Given the description of an element on the screen output the (x, y) to click on. 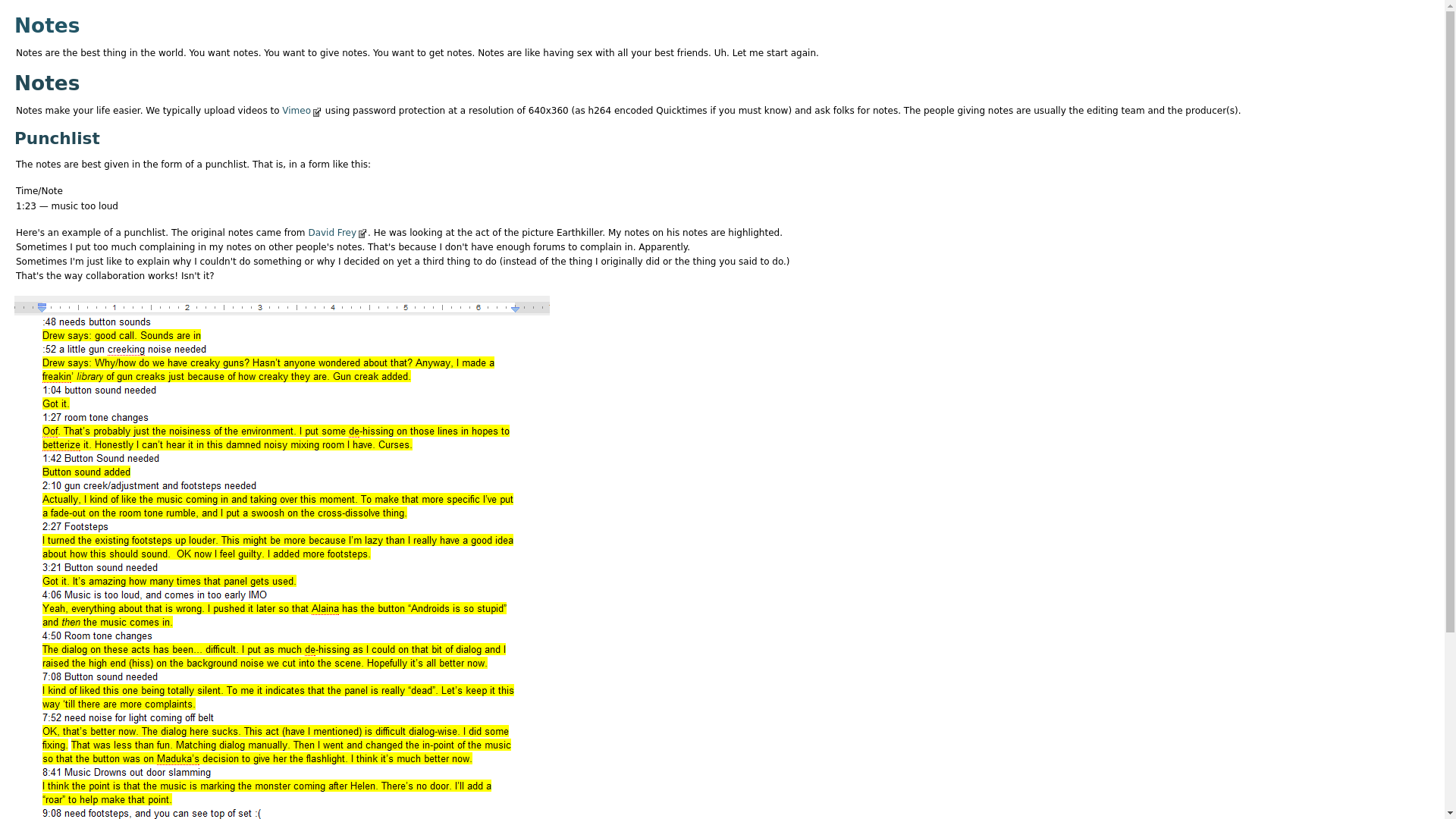
Notes (47, 24)
Vimeo (296, 110)
go back to this crumb (47, 24)
David Frey (331, 232)
